Given the description of an element on the screen output the (x, y) to click on. 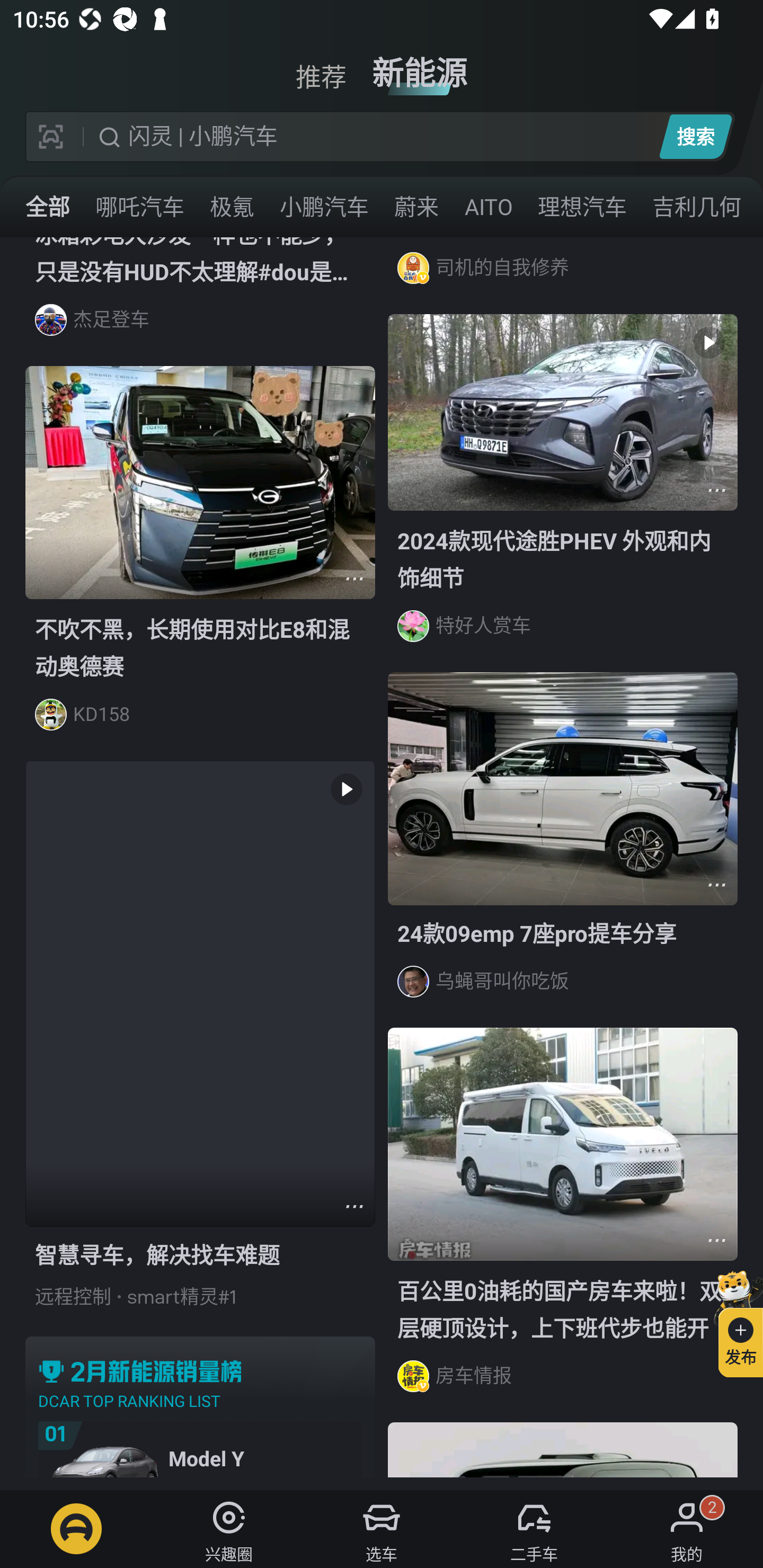
推荐 (321, 65)
新能源 (419, 65)
搜索 (695, 136)
全部 (47, 206)
哪吒汽车 (139, 206)
极氪 (231, 206)
小鹏汽车 (324, 206)
蔚来 (416, 206)
AITO (487, 206)
理想汽车 (581, 206)
吉利几何 (696, 206)
冰箱彩电大沙发一样也不能少，只是没有HUD不太理解#dou是好车 杰足登车 (200, 300)
司机的自我修养 (562, 274)
  2024款现代途胜PHEV 外观和内饰细节 特好人赏车 (562, 492)
 不吹不黑，长期使用对比E8和混动奥德赛 KD158 (200, 562)
 (716, 490)
 (354, 578)
 24款09emp 7座pro提车分享 乌蝇哥叫你吃饭 (562, 849)
  智慧寻车，解决找车难题 远程控制 smart精灵#1 (200, 1047)
 (716, 884)
 百公里0油耗的国产房车来啦！双层硬顶设计，上下班代步也能开 房车情报 (562, 1224)
 (354, 1205)
 (716, 1240)
发布 (732, 1321)
smart精灵#1 (181, 1296)
2 DCAR TOP RANKING LIST 01 Model Y 25.89万起 (200, 1406)
 兴趣圈 (228, 1528)
 选车 (381, 1528)
 二手车 (533, 1528)
 我的 (686, 1528)
